Given the description of an element on the screen output the (x, y) to click on. 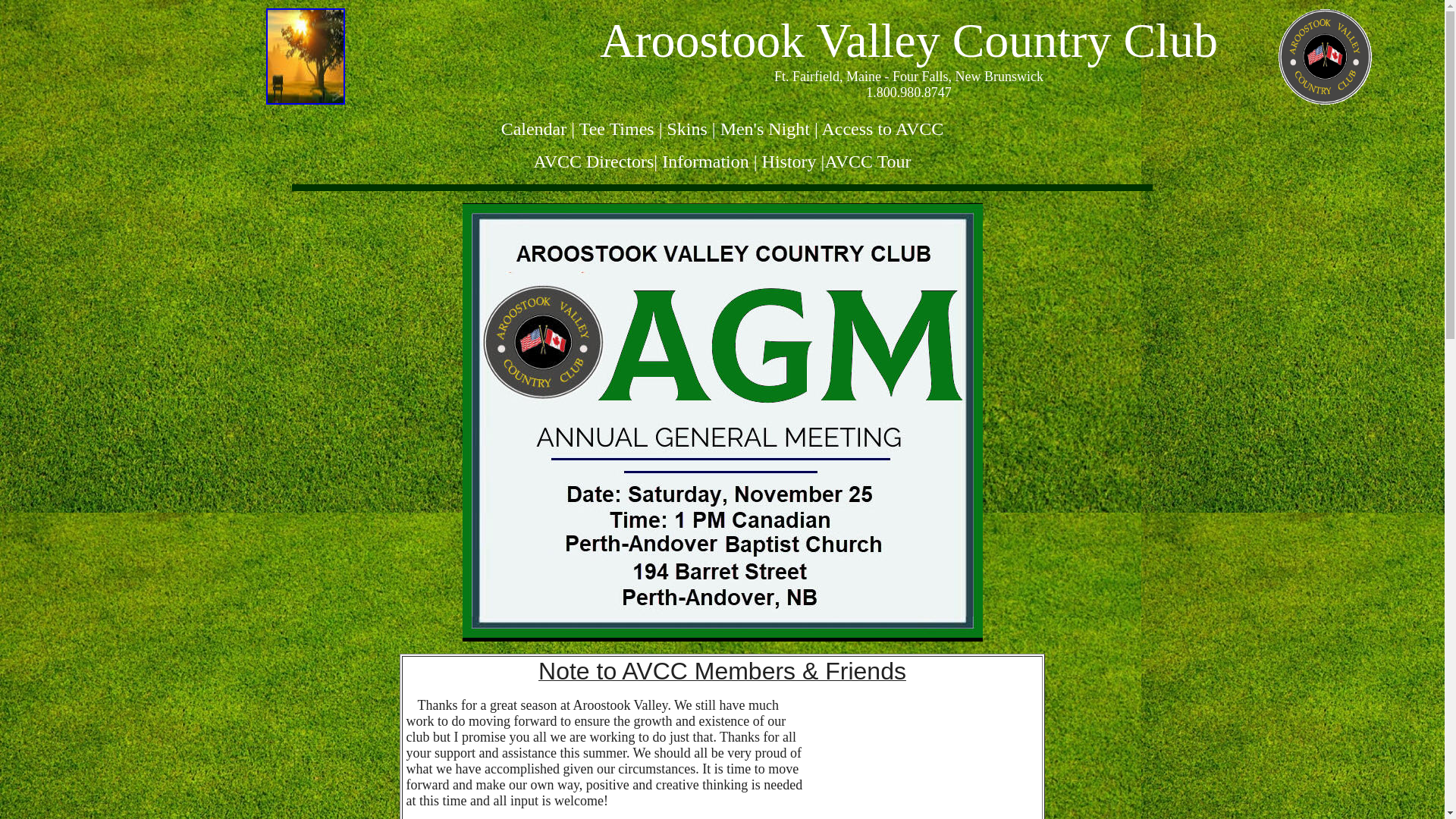
Information Element type: text (705, 161)
Skins Element type: text (686, 128)
AVCC Directors Element type: text (593, 161)
Men's Night Element type: text (764, 128)
Tee Times Element type: text (616, 128)
History Element type: text (789, 161)
Calendar Element type: text (534, 128)
Access to AVCC Element type: text (882, 128)
AVCC Tour Element type: text (867, 161)
